Given the description of an element on the screen output the (x, y) to click on. 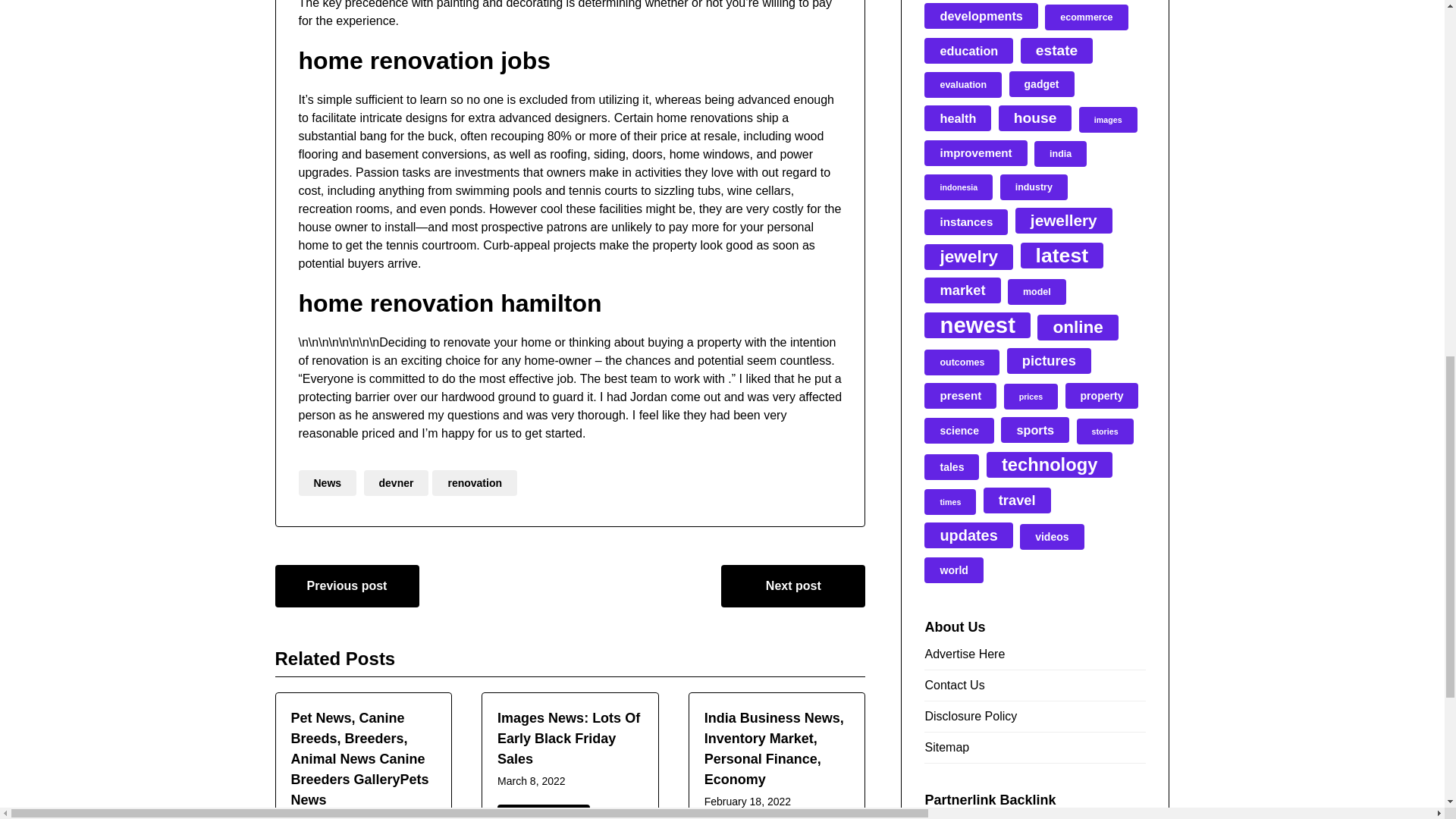
Read More (543, 811)
Next post (792, 586)
November 1, 2022 (334, 817)
March 8, 2022 (531, 780)
February 18, 2022 (747, 801)
News (327, 483)
devner (396, 483)
Images News: Lots Of Early Black Friday Sales (568, 738)
